Given the description of an element on the screen output the (x, y) to click on. 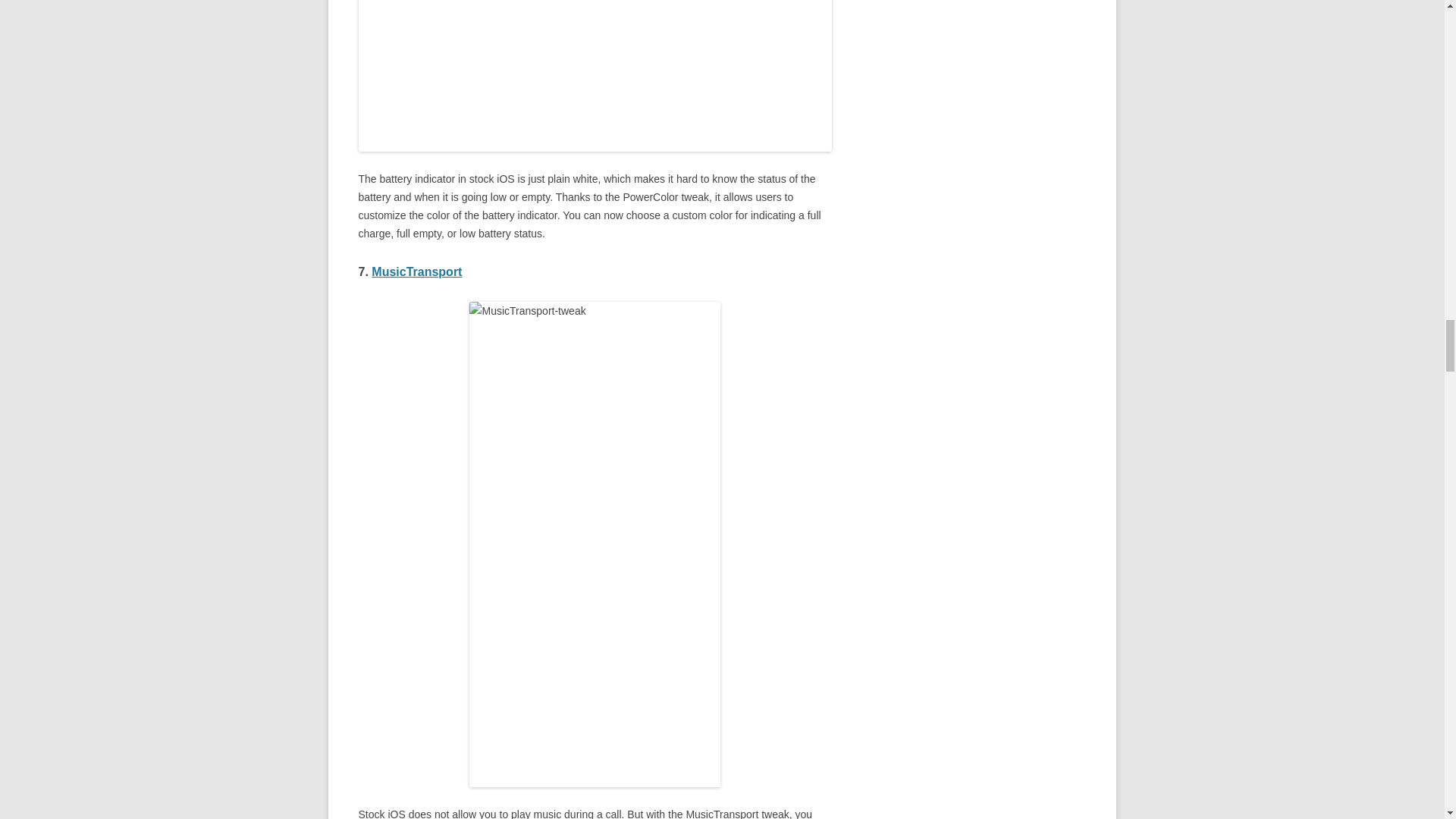
MusicTransport (416, 271)
